Given the description of an element on the screen output the (x, y) to click on. 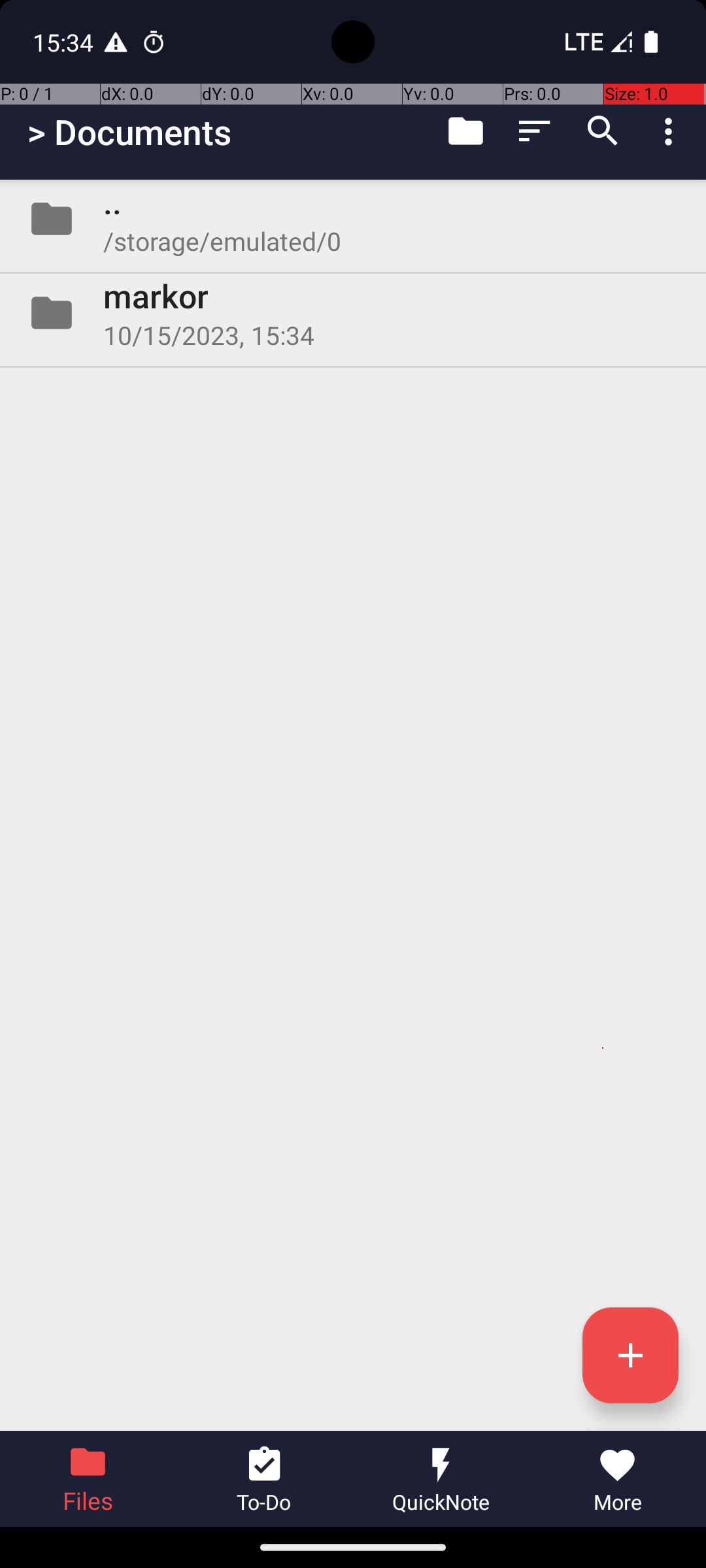
> Documents Element type: android.widget.TextView (129, 131)
Folder .. /storage/emulated/0/Documents Element type: android.widget.LinearLayout (353, 218)
Folder markor  Element type: android.widget.LinearLayout (353, 312)
